Given the description of an element on the screen output the (x, y) to click on. 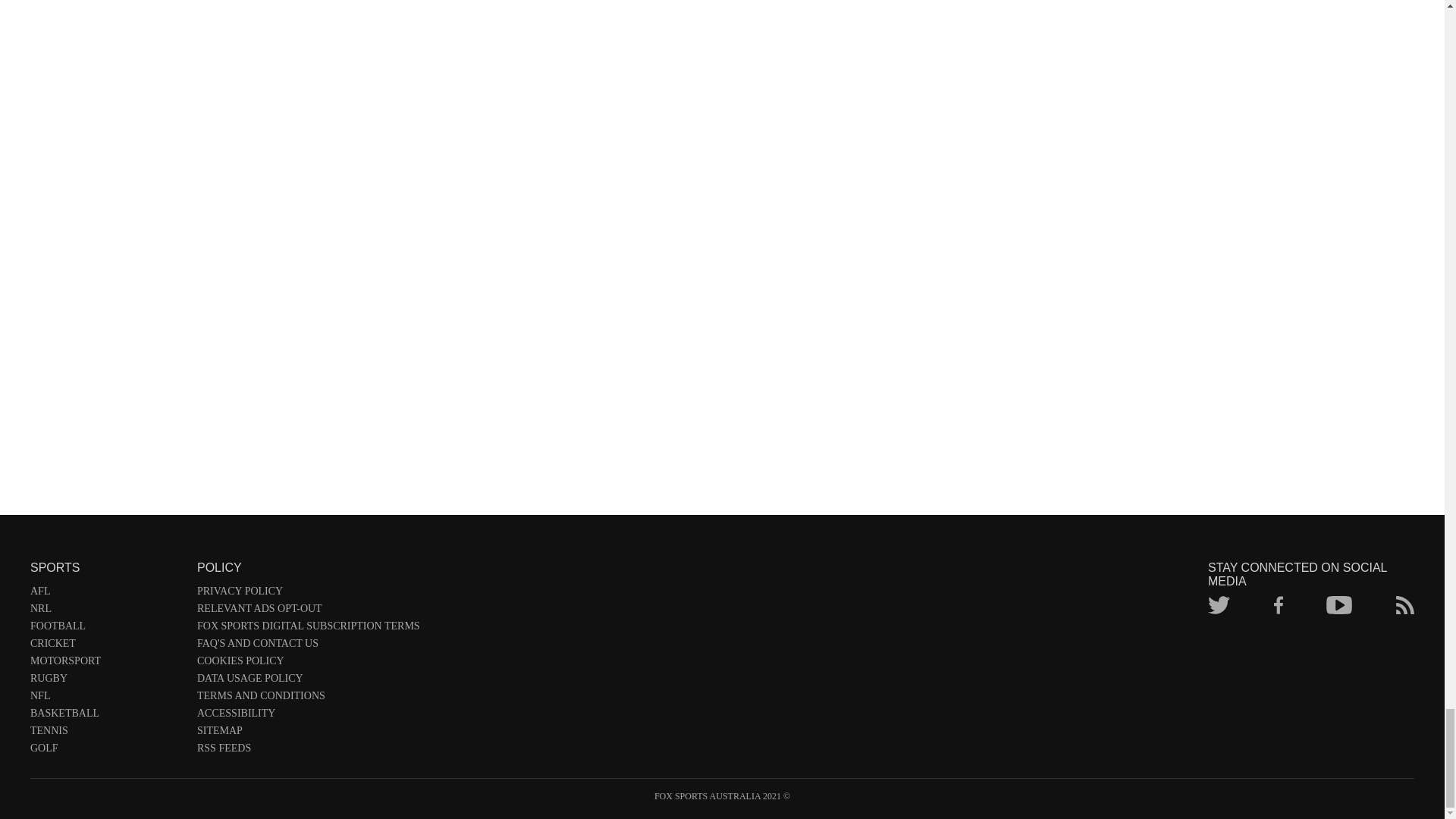
RUGBY (106, 681)
MOTORSPORT (106, 663)
CRICKET (106, 646)
NRL (106, 610)
FOOTBALL (106, 628)
AFL (106, 593)
